Given the description of an element on the screen output the (x, y) to click on. 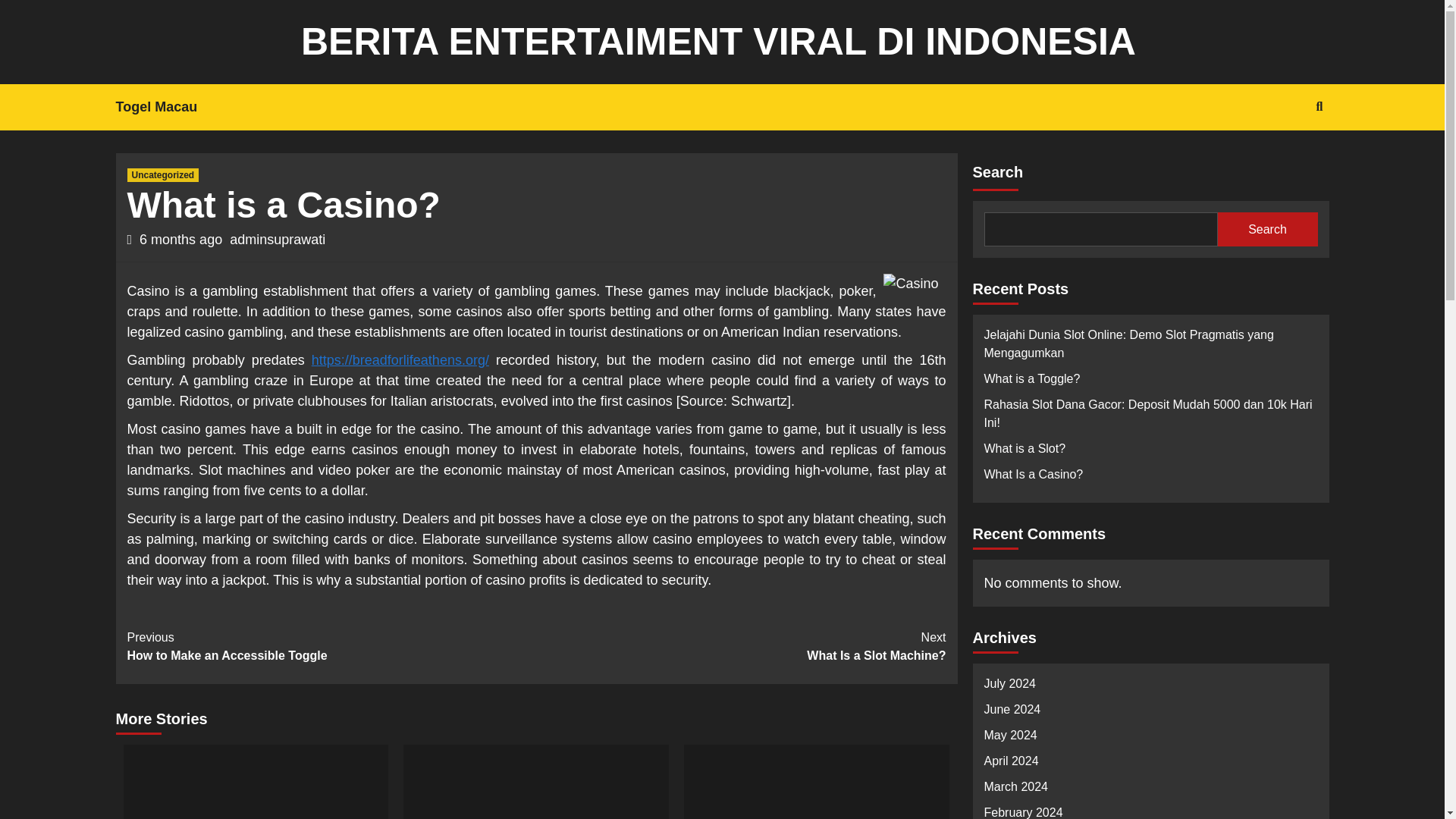
adminsuprawati (741, 646)
What Is a Casino? (277, 239)
Search (1150, 478)
March 2024 (1267, 229)
Togel Macau (1150, 790)
Search (167, 107)
May 2024 (1283, 155)
April 2024 (1150, 739)
Uncategorized (1150, 765)
June 2024 (163, 174)
February 2024 (1150, 713)
July 2024 (1150, 811)
What is a Toggle? (1150, 687)
